Given the description of an element on the screen output the (x, y) to click on. 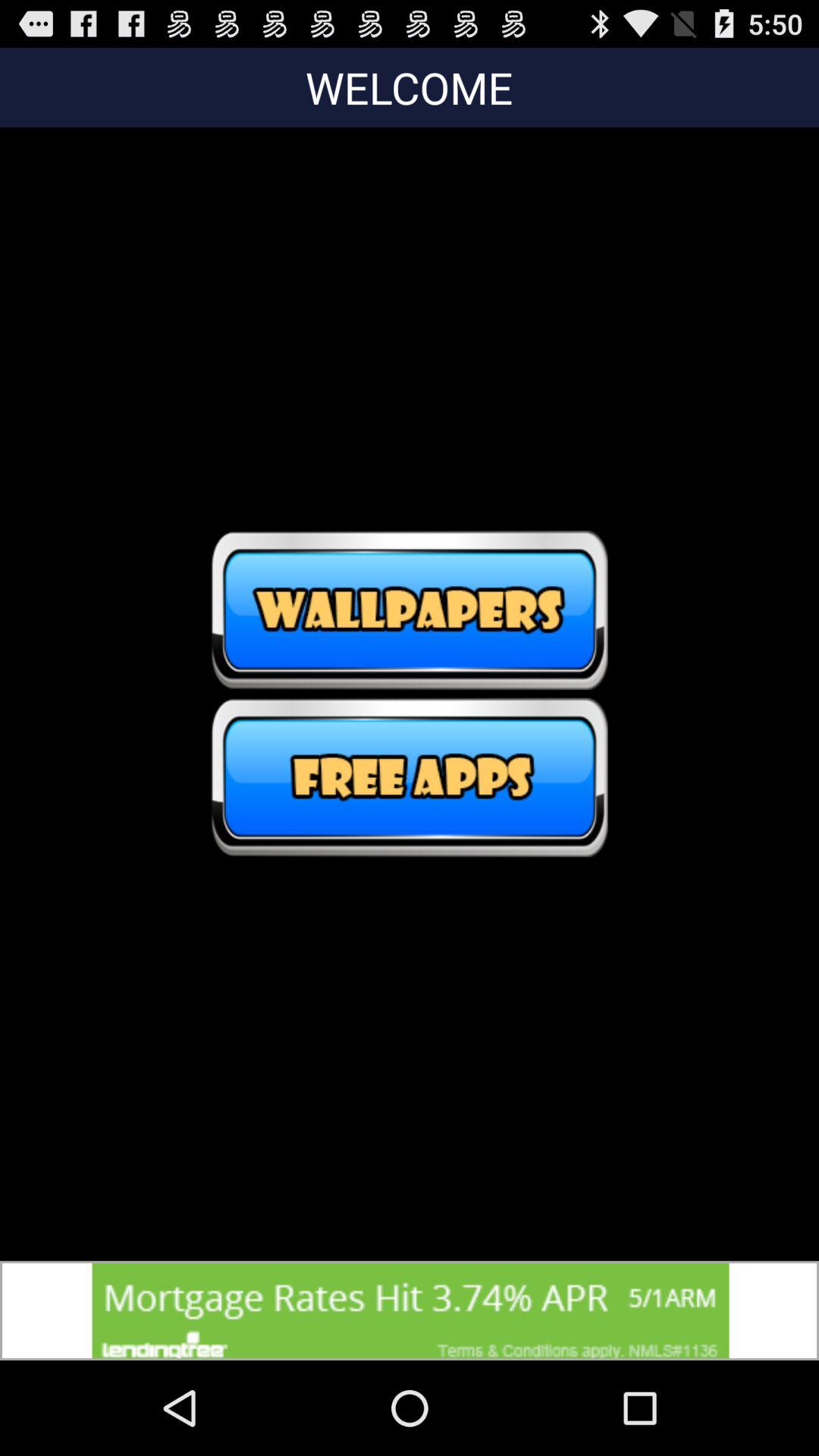
advertisement bar (409, 1310)
